Given the description of an element on the screen output the (x, y) to click on. 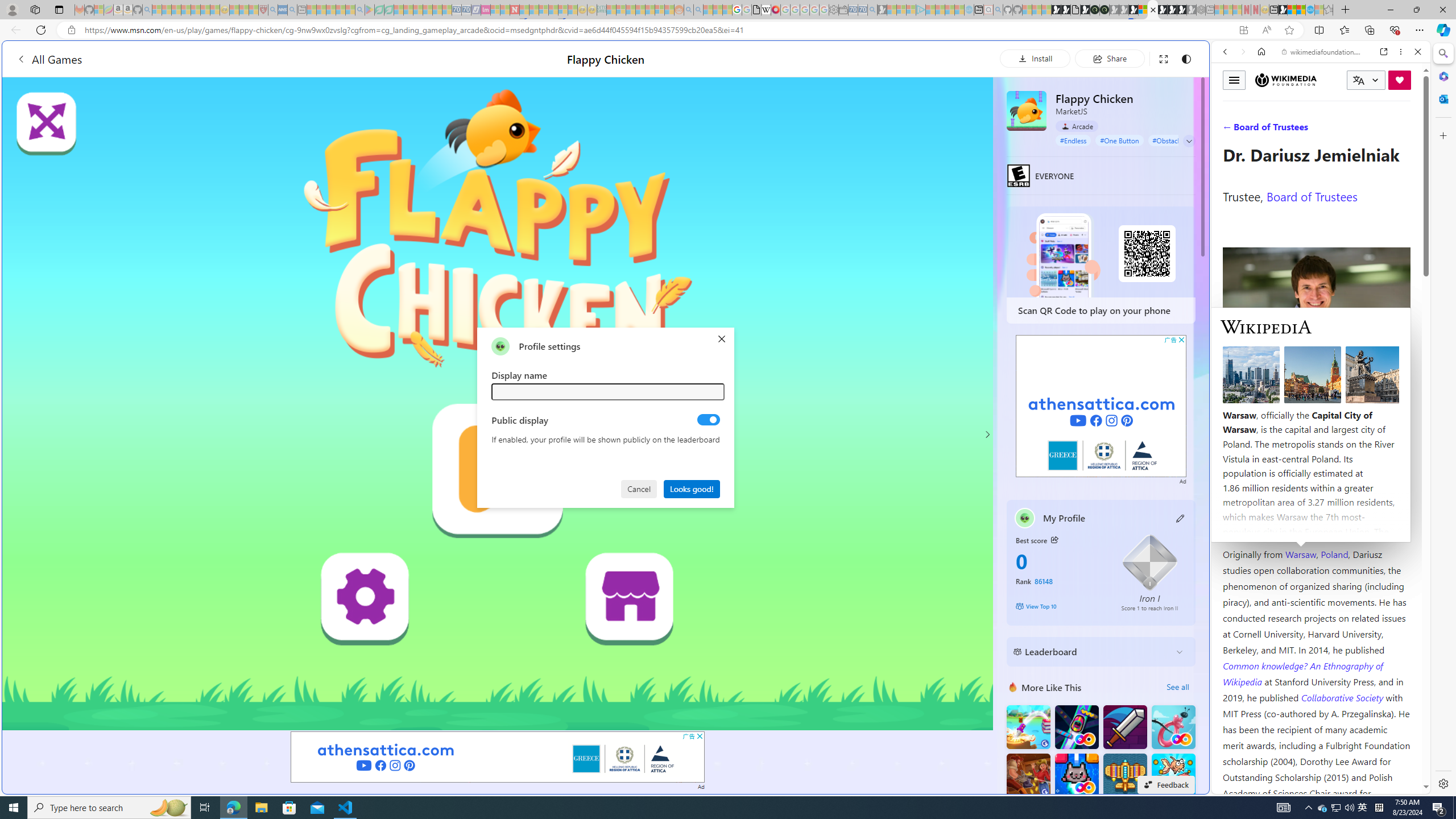
WEB   (1230, 130)
Search the web (1326, 78)
Share (1109, 58)
CURRENT LANGUAGE: (1366, 80)
Search Filter, IMAGES (1262, 129)
Play Cave FRVR in your browser | Games from Microsoft Start (922, 242)
All Games (212, 58)
Advertisement (1101, 405)
Web scope (1230, 102)
Class: i icon icon-translate language-switcher__icon (1358, 80)
Microsoft Start Gaming - Sleeping (881, 9)
New tab (1272, 9)
